Given the description of an element on the screen output the (x, y) to click on. 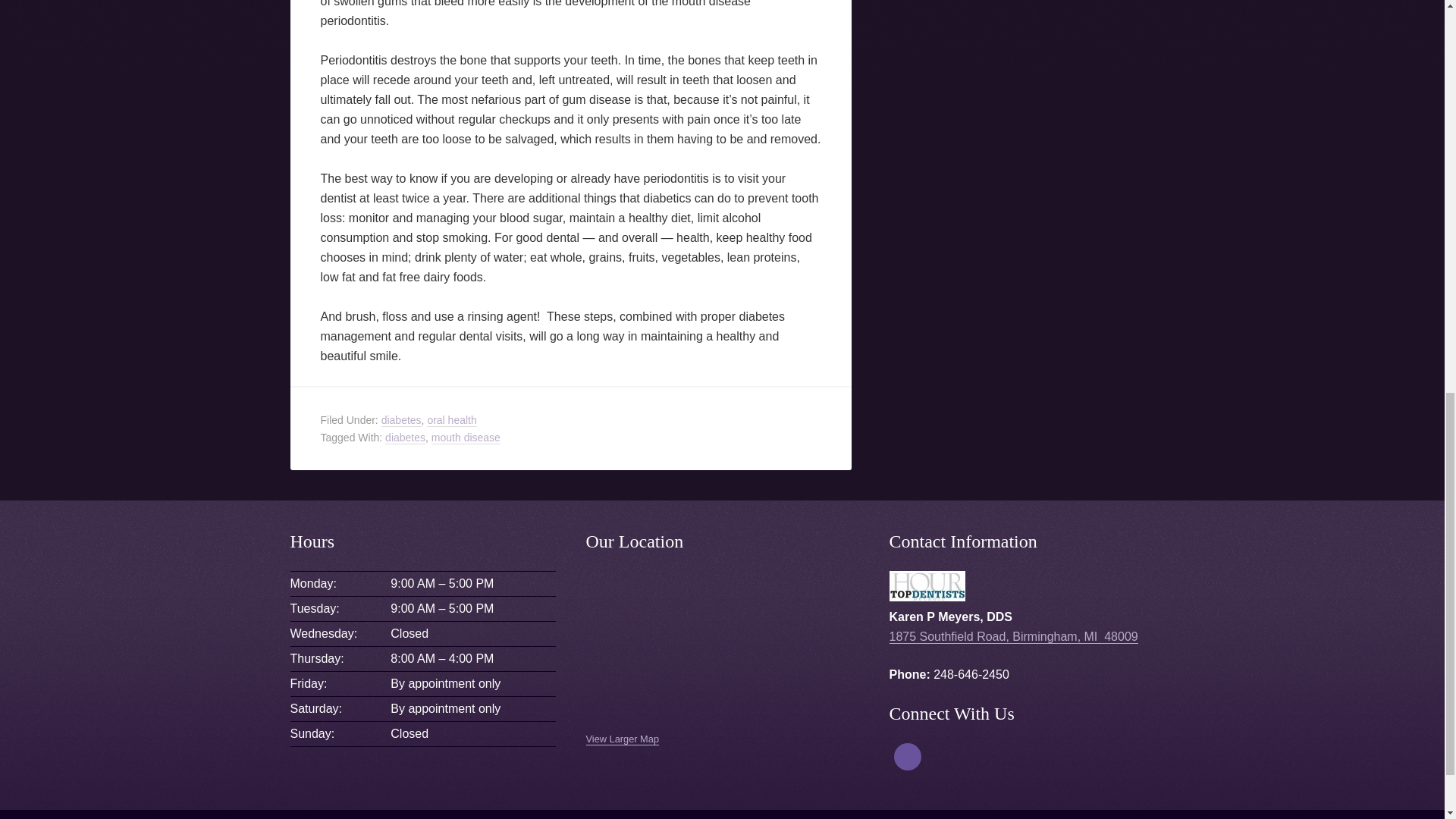
diabetes (405, 436)
oral health (451, 420)
1875 Southfield Road, Birmingham, MI  48009 (1012, 636)
View Larger Map (622, 739)
mouth disease (465, 436)
diabetes (401, 420)
